Given the description of an element on the screen output the (x, y) to click on. 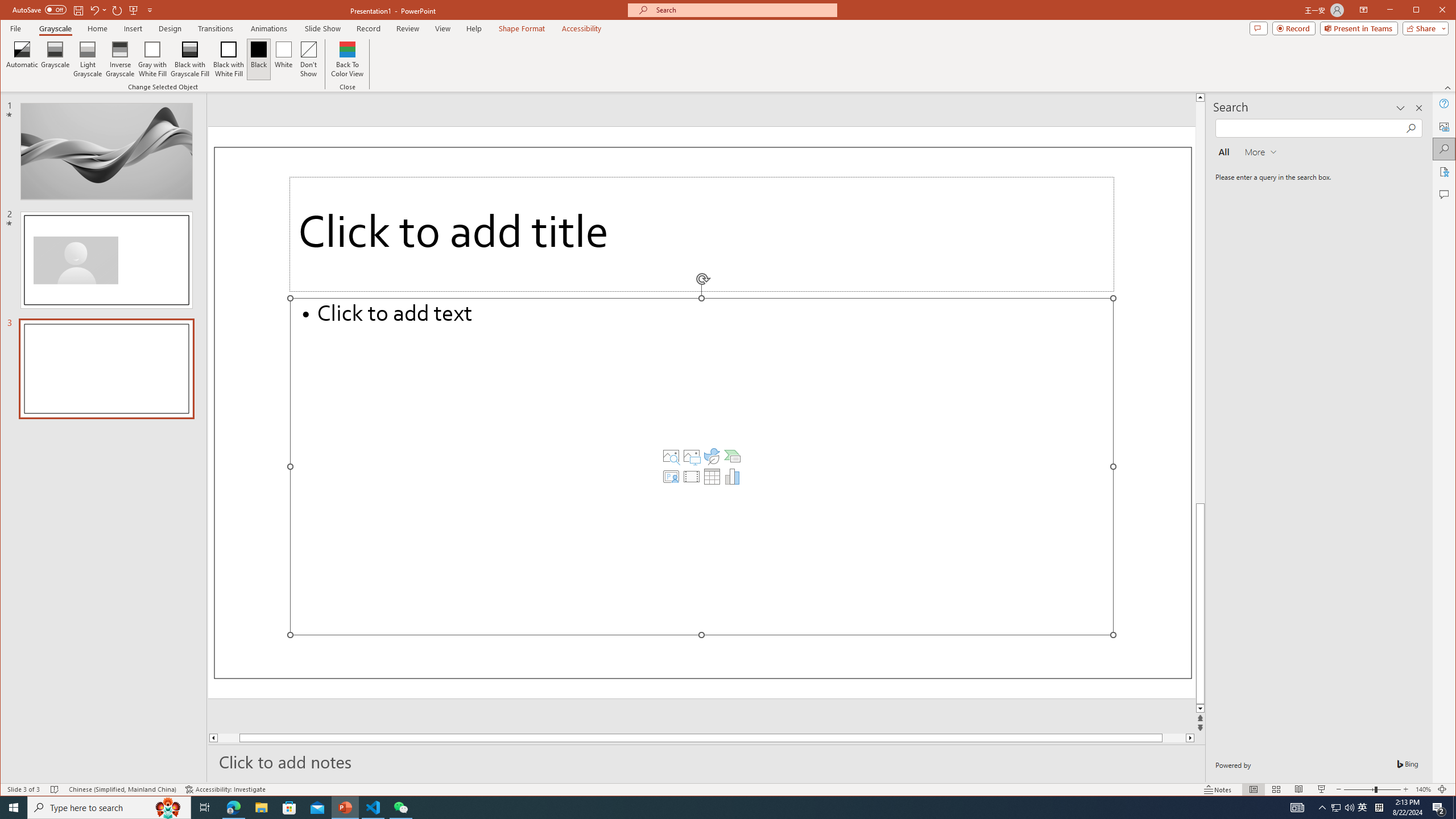
Maximize (1432, 11)
Task View (204, 807)
Action Center, 2 new notifications (1439, 807)
Transitions (215, 28)
Insert Table (711, 476)
More Options (105, 9)
Home (97, 28)
Gray with White Fill (152, 59)
Insert Video (691, 476)
Page down (1162, 737)
Record (368, 28)
Shape Format (521, 28)
Reading View (1298, 789)
Insert an Icon (711, 456)
Visual Studio Code - 1 running window (373, 807)
